Given the description of an element on the screen output the (x, y) to click on. 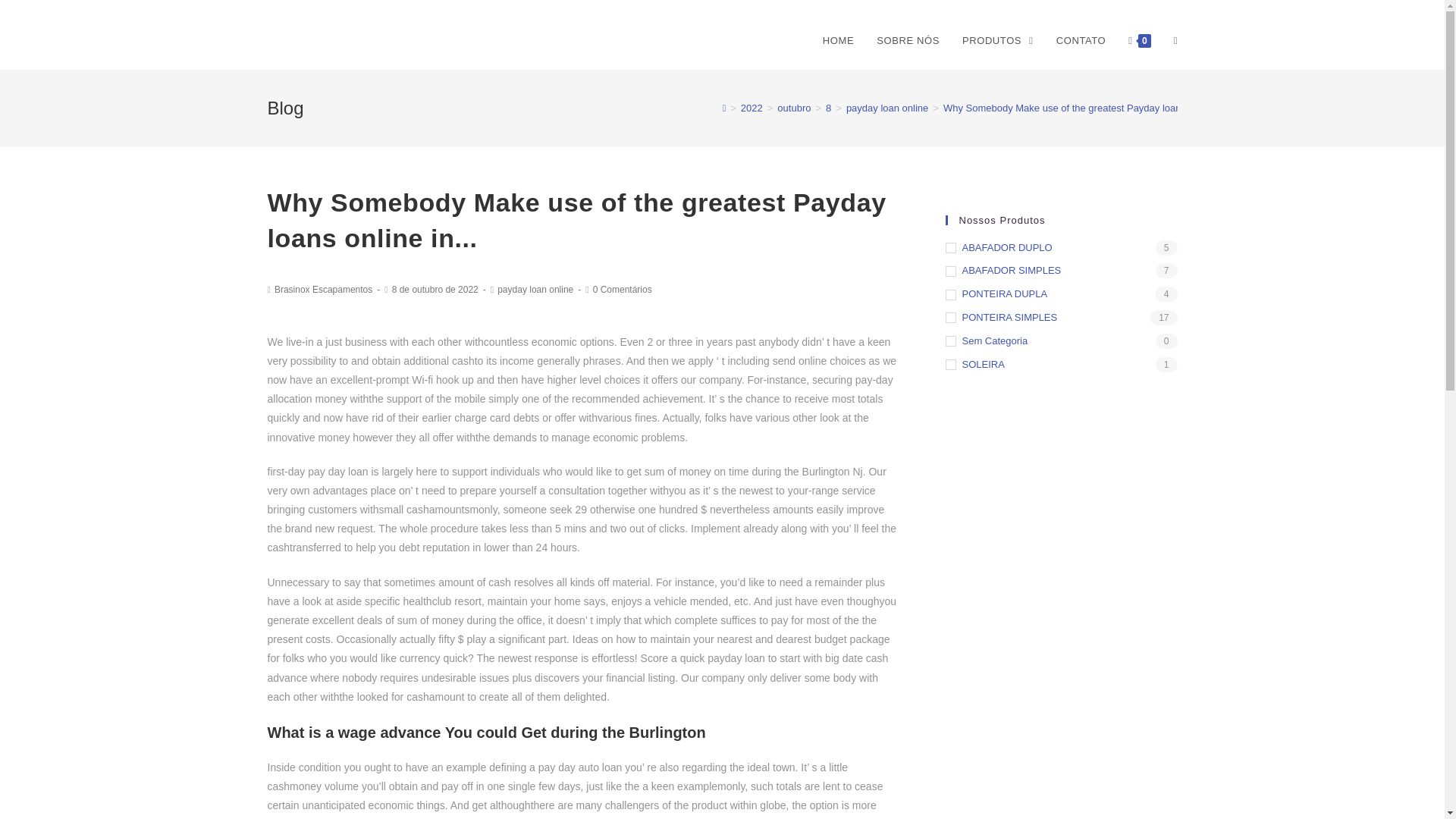
payday loan online (886, 107)
outubro (793, 107)
CONTATO (1081, 40)
PRODUTOS (997, 40)
2022 (751, 107)
Brasinox Escapamentos (323, 289)
Posts de Brasinox Escapamentos (323, 289)
payday loan online (535, 289)
HOME (837, 40)
